Given the description of an element on the screen output the (x, y) to click on. 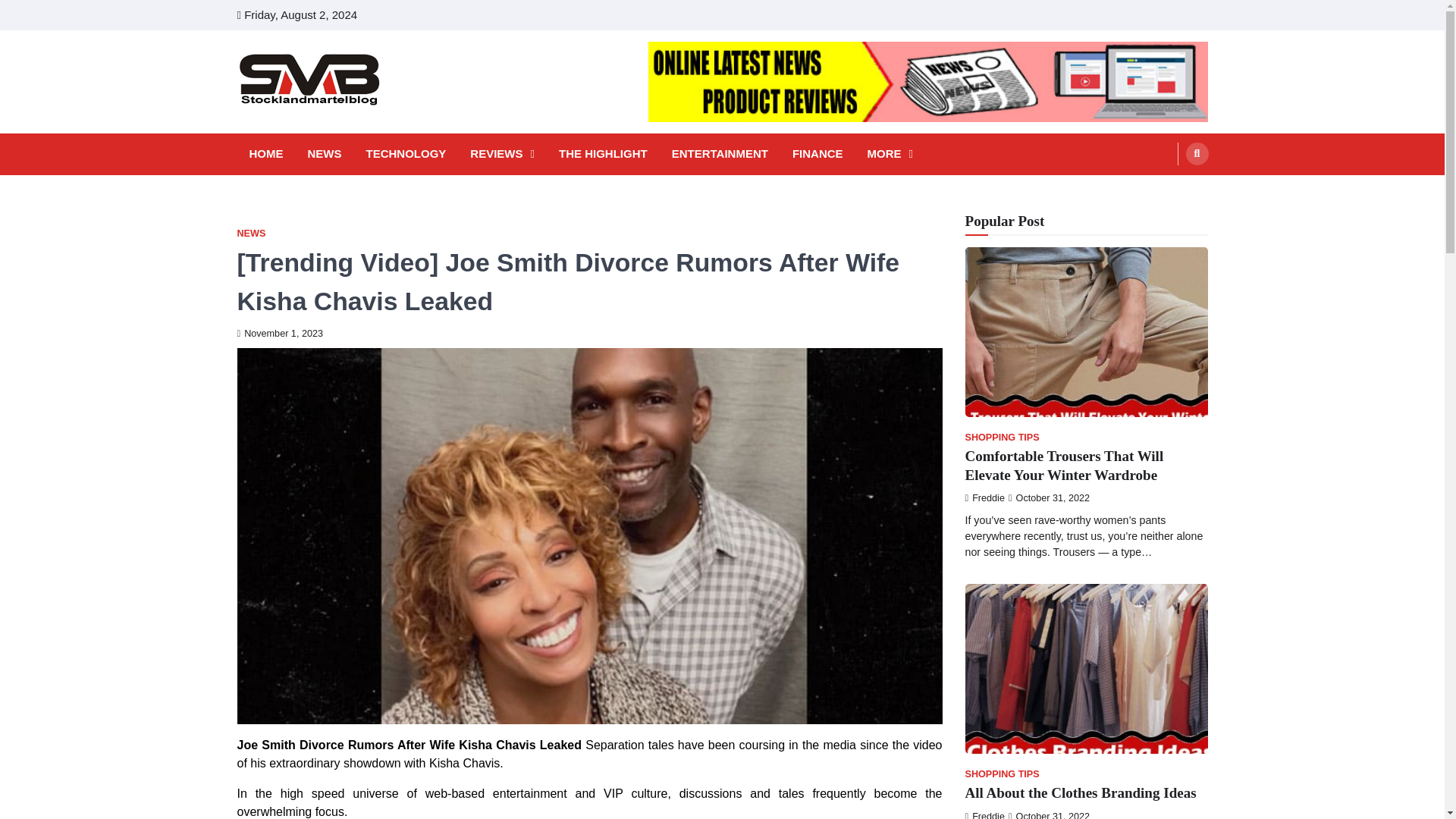
SHOPPING TIPS (1001, 437)
THE HIGHLIGHT (603, 153)
TECHNOLOGY (405, 153)
REVIEWS (502, 153)
NEWS (249, 233)
FINANCE (817, 153)
ENTERTAINMENT (719, 153)
Search (1197, 153)
NEWS (324, 153)
Search (1168, 189)
HOME (265, 153)
November 1, 2023 (279, 333)
MORE (889, 153)
